Given the description of an element on the screen output the (x, y) to click on. 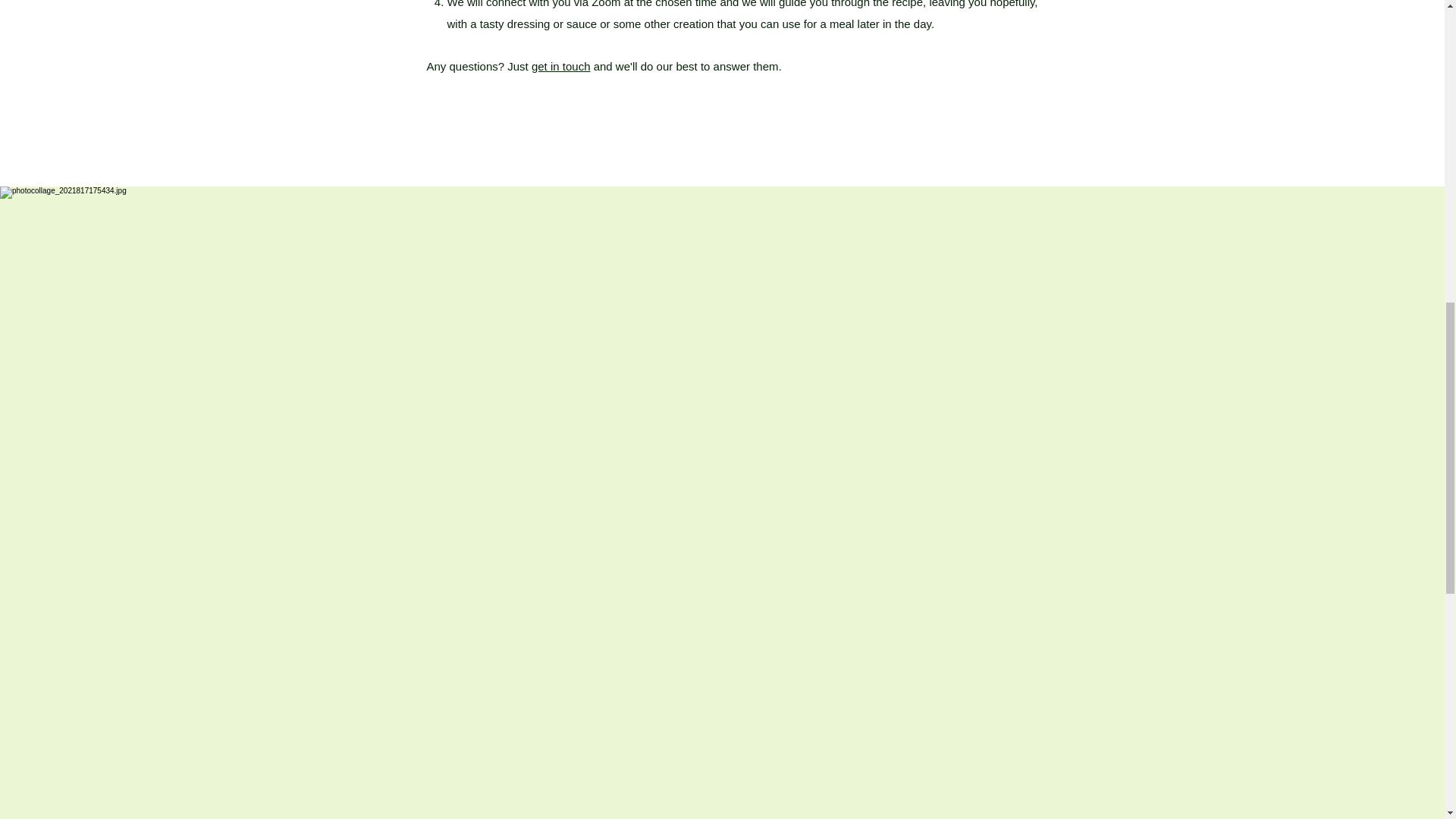
get in touch (561, 65)
